Given the description of an element on the screen output the (x, y) to click on. 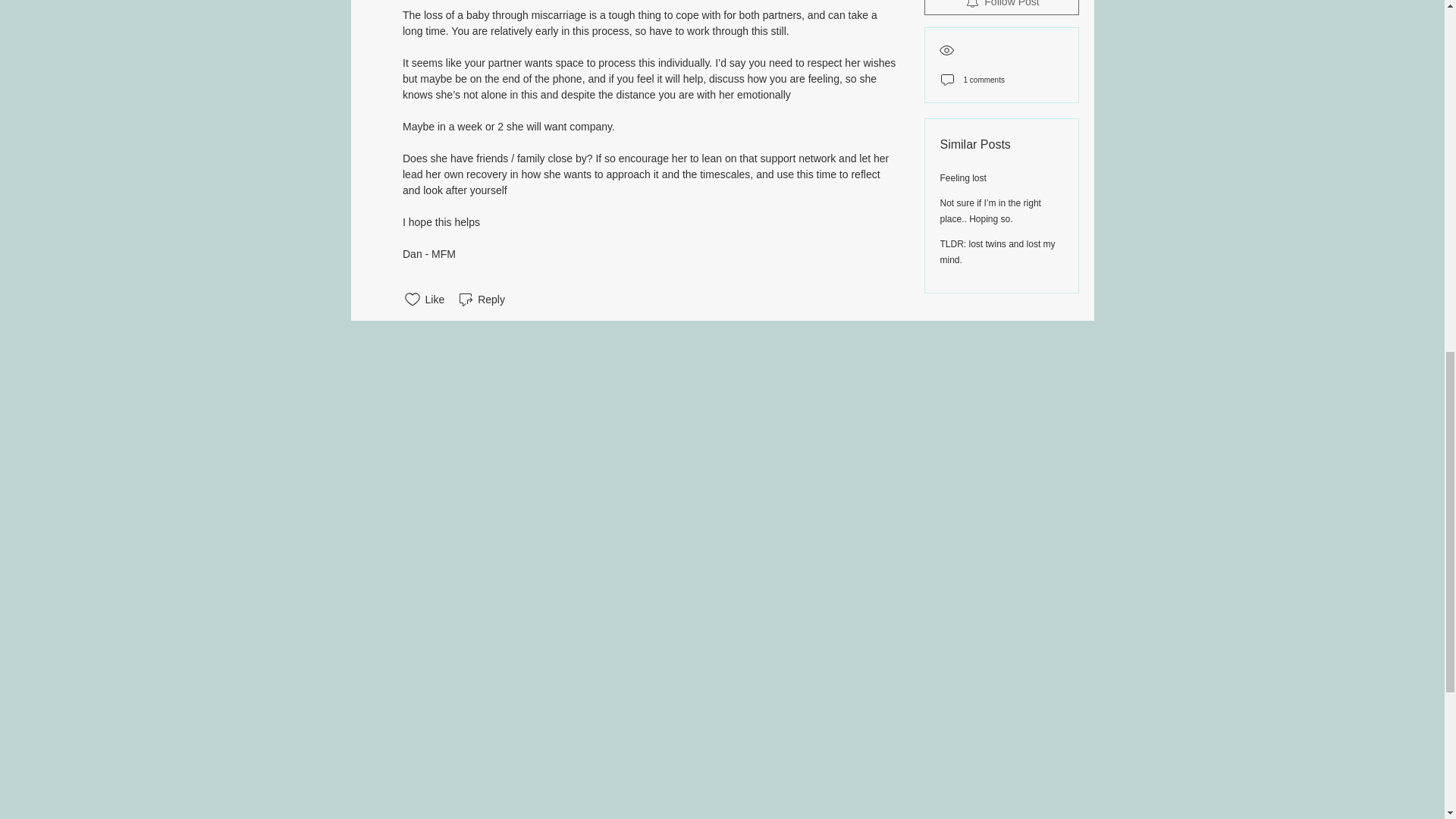
Reply (481, 299)
